Given the description of an element on the screen output the (x, y) to click on. 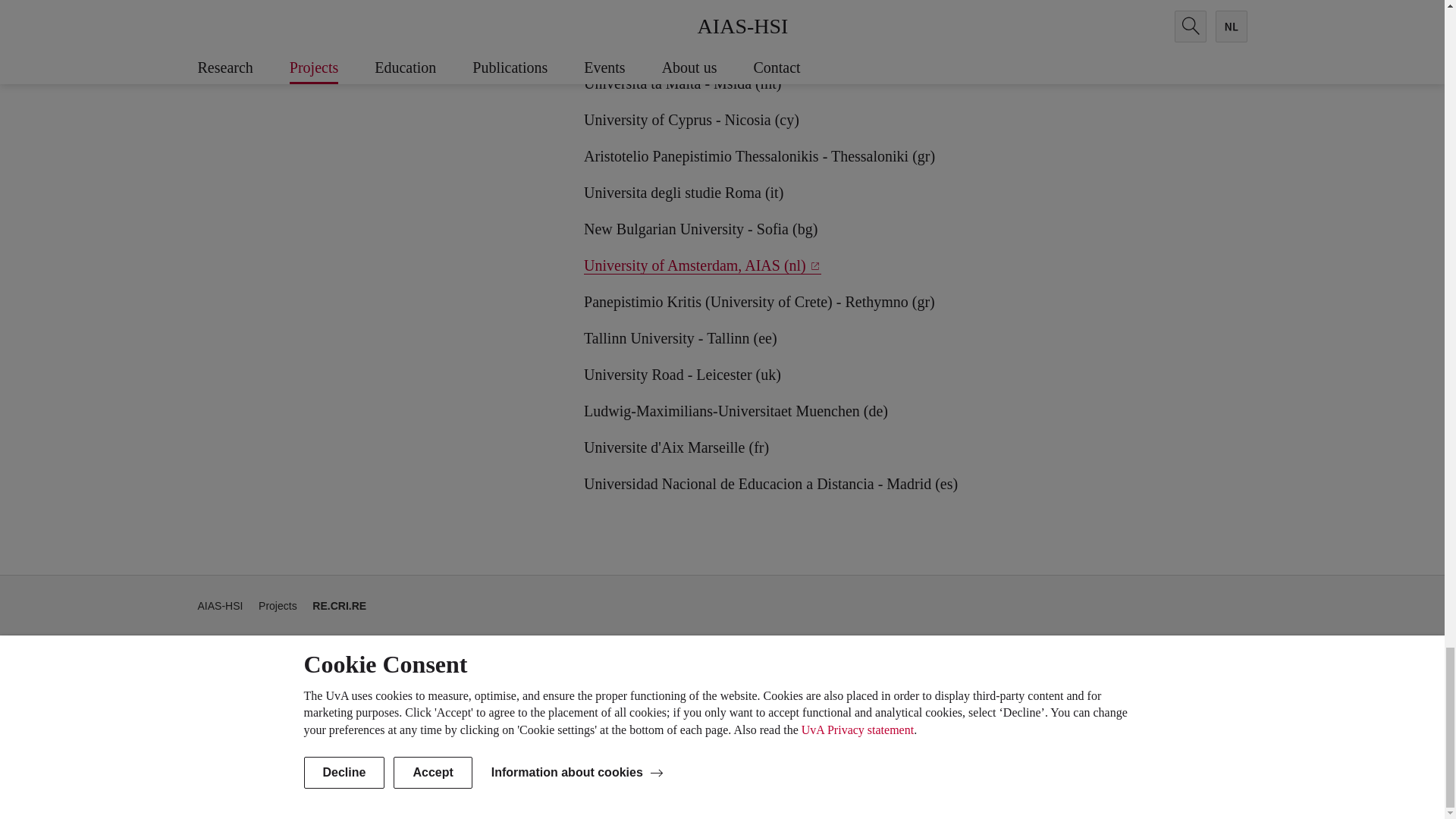
About this site (1076, 787)
University of Amsterdam (333, 786)
Privacy (1139, 787)
